Given the description of an element on the screen output the (x, y) to click on. 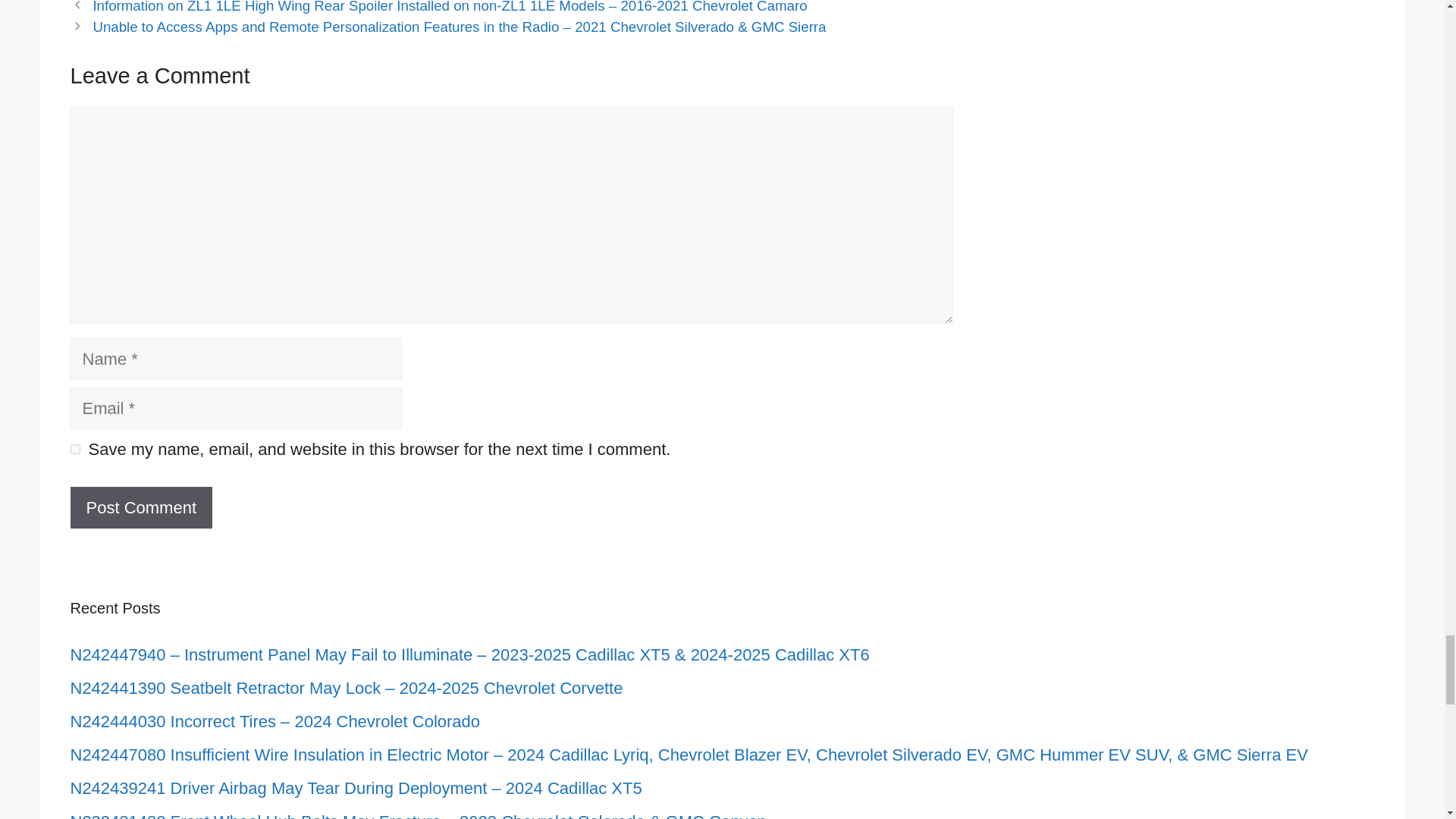
yes (74, 449)
Post Comment (140, 507)
